Given the description of an element on the screen output the (x, y) to click on. 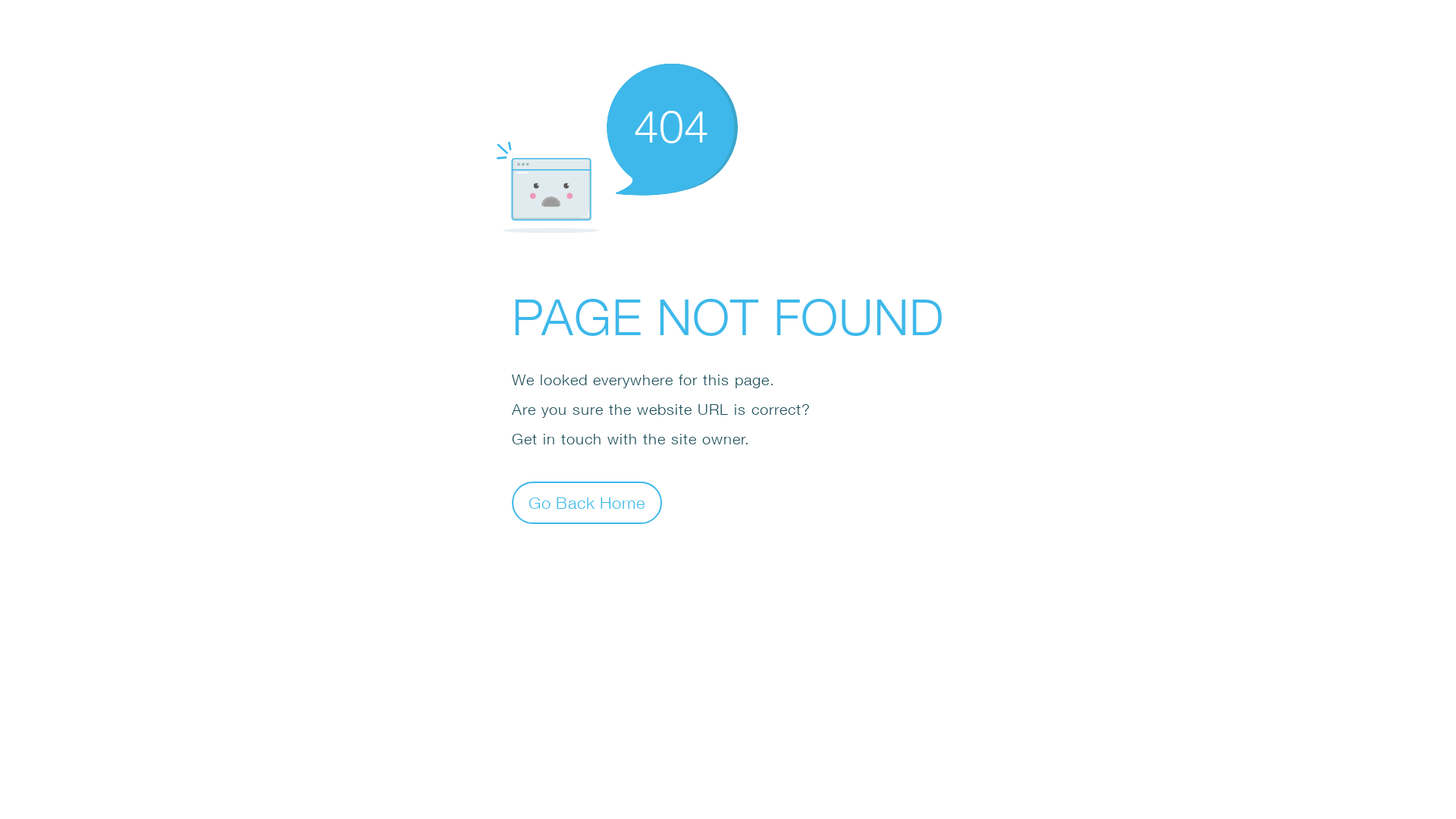
Go Back Home Element type: text (586, 502)
